Given the description of an element on the screen output the (x, y) to click on. 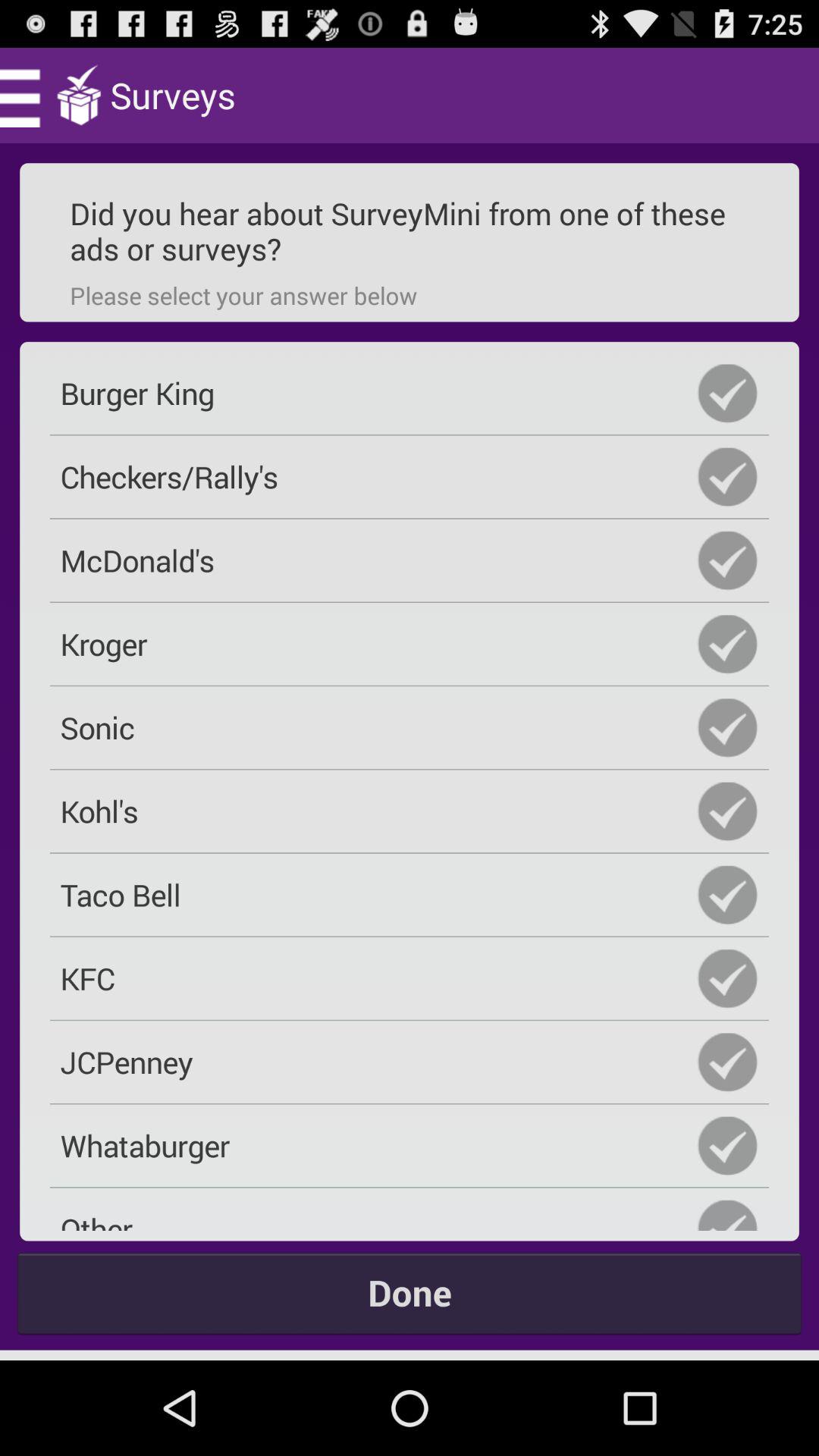
turn off kroger (409, 643)
